Given the description of an element on the screen output the (x, y) to click on. 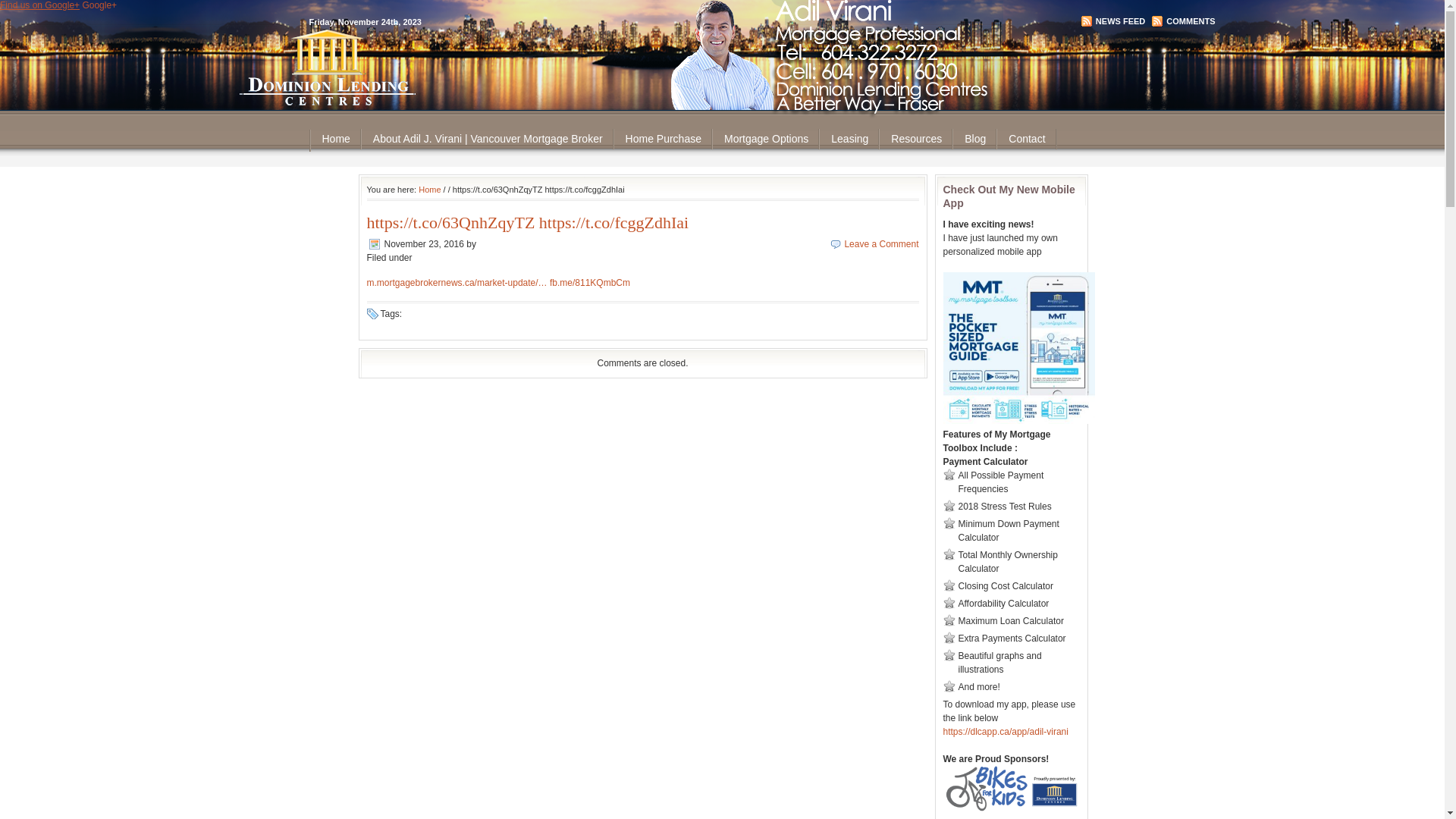
fb.me/811KQmbCm Element type: text (589, 282)
Home Element type: text (429, 189)
Contact Element type: text (1026, 138)
Leasing Element type: text (849, 138)
Google+ Element type: text (98, 5)
Leave a Comment Element type: text (881, 243)
About Adil J. Virani | Vancouver Mortgage Broker Element type: text (487, 138)
COMMENTS Element type: text (1184, 21)
NEWS FEED Element type: text (1114, 21)
Home Element type: text (335, 138)
Resources Element type: text (916, 138)
Home Purchase Element type: text (663, 138)
Find us on Google+ Element type: text (39, 5)
https://dlcapp.ca/app/adil-virani Element type: text (1005, 731)
Mortgage Options Element type: text (765, 138)
Blog Element type: text (975, 138)
